Given the description of an element on the screen output the (x, y) to click on. 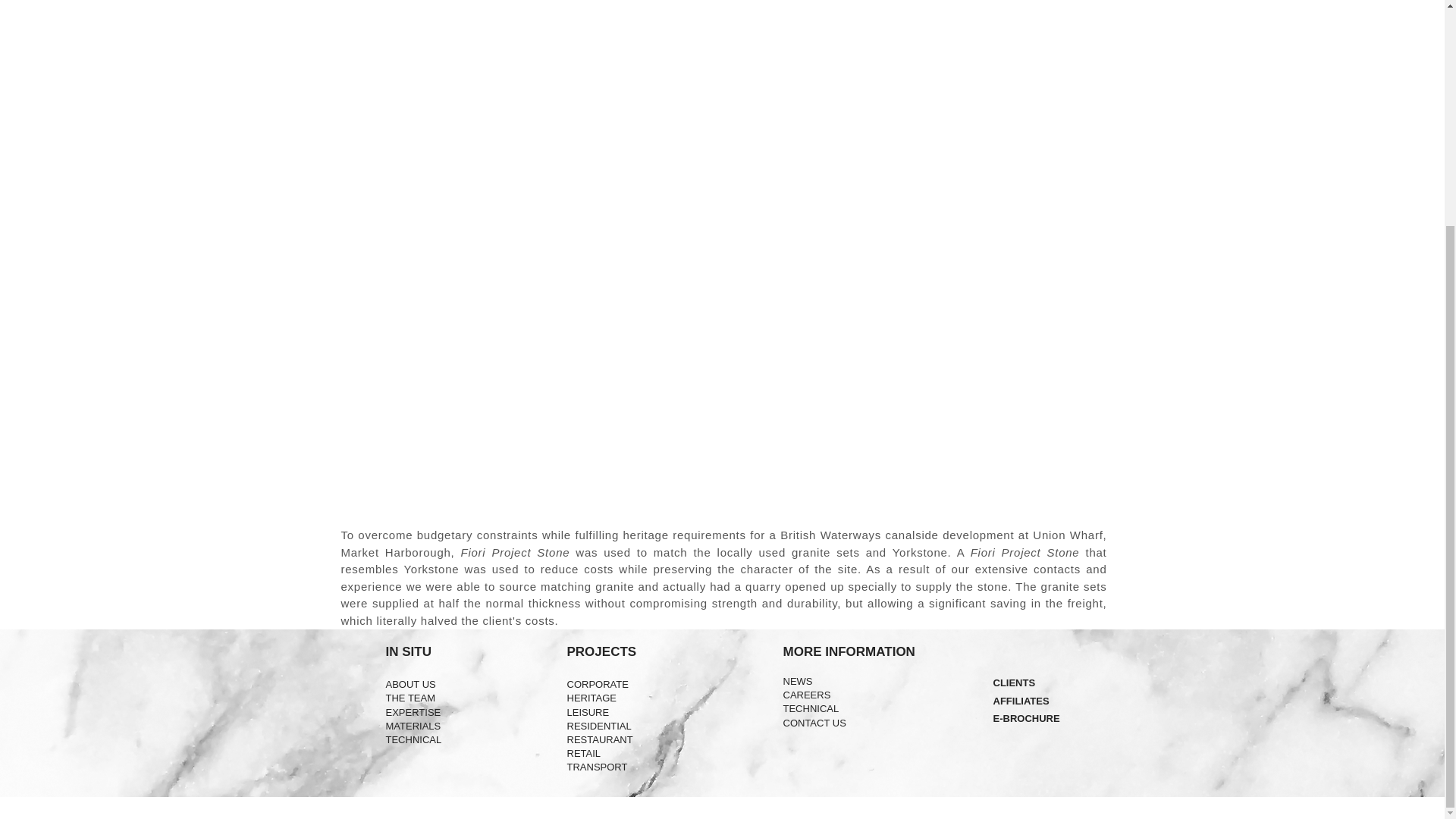
EXPERTISE (413, 712)
HERITAGE (592, 697)
ABOUT US (410, 684)
RESIDENTIAL (599, 726)
NEWS (797, 681)
MATERIALS (413, 726)
RESTAURANT (600, 739)
CLIENTS (1013, 682)
CAREERS (806, 695)
LEISURE (588, 712)
